Given the description of an element on the screen output the (x, y) to click on. 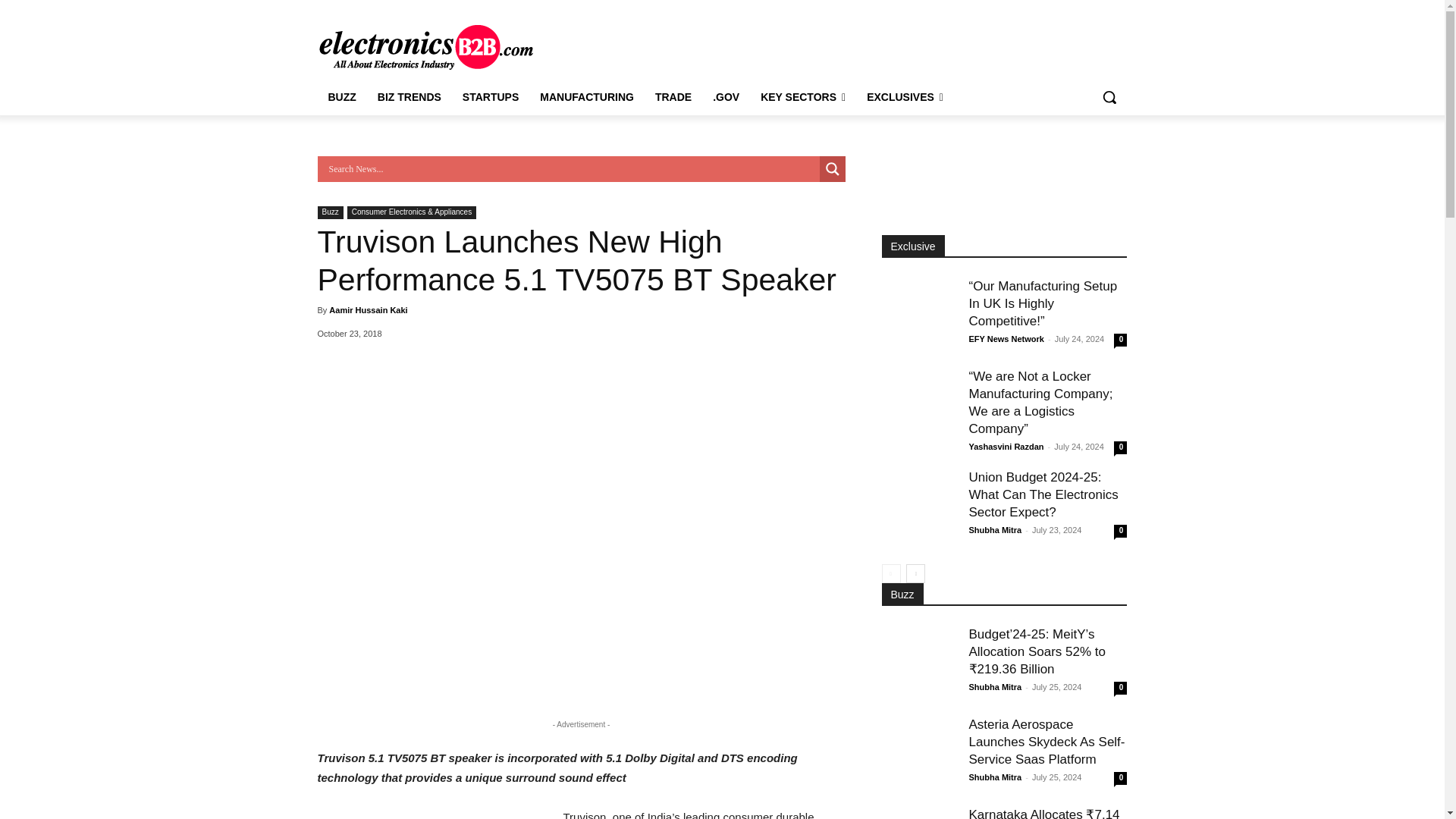
TRADE (673, 96)
.GOV (725, 96)
BIZ TRENDS (408, 96)
MANUFACTURING (587, 96)
BUZZ (341, 96)
STARTUPS (490, 96)
KEY SECTORS (802, 96)
